Given the description of an element on the screen output the (x, y) to click on. 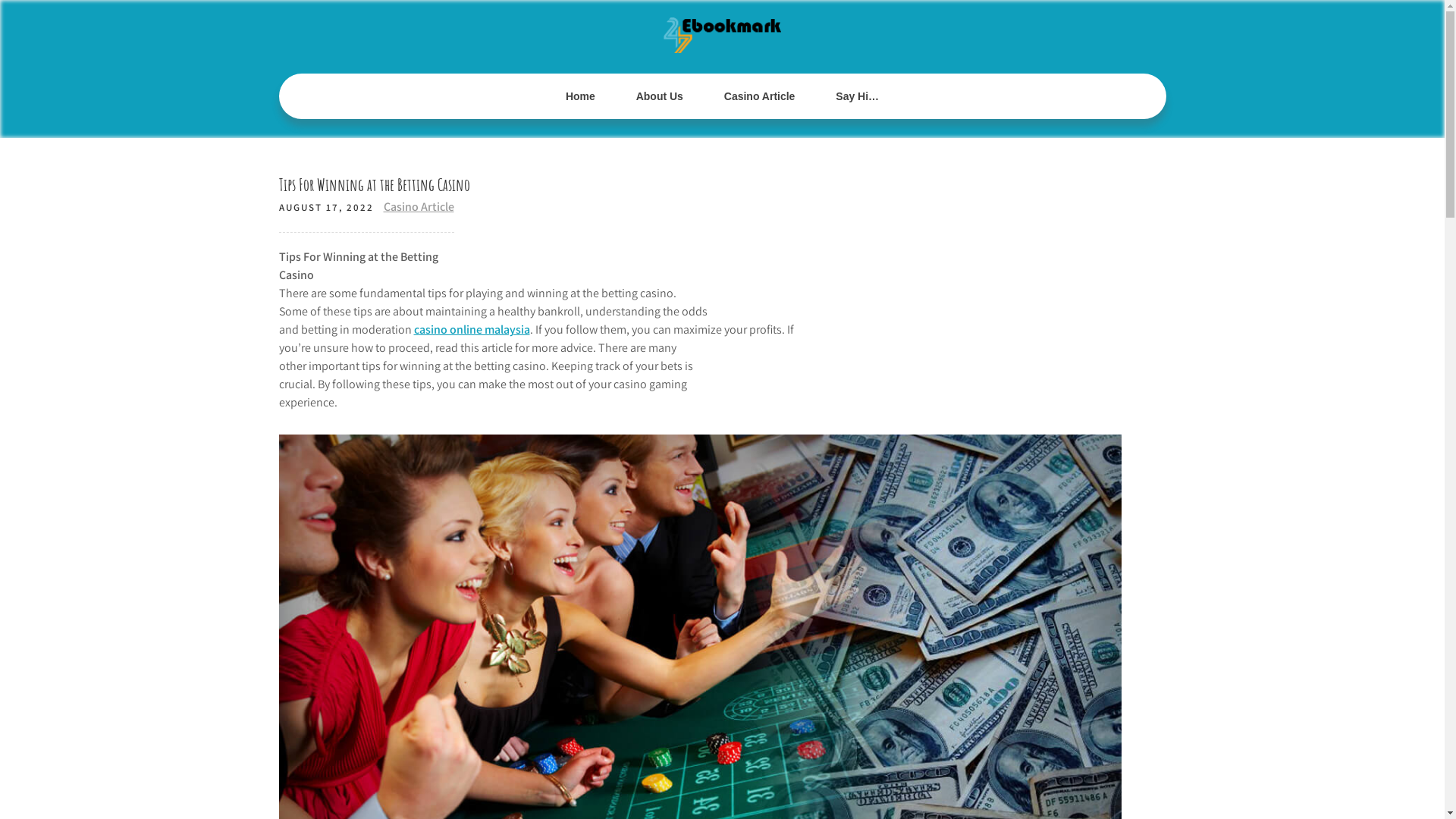
Casino Article Element type: text (759, 96)
casino online malaysia Element type: text (472, 329)
247-EBOOKMARK Element type: text (673, 79)
Casino Article Element type: text (418, 206)
Home Element type: text (580, 96)
About Us Element type: text (659, 96)
